Given the description of an element on the screen output the (x, y) to click on. 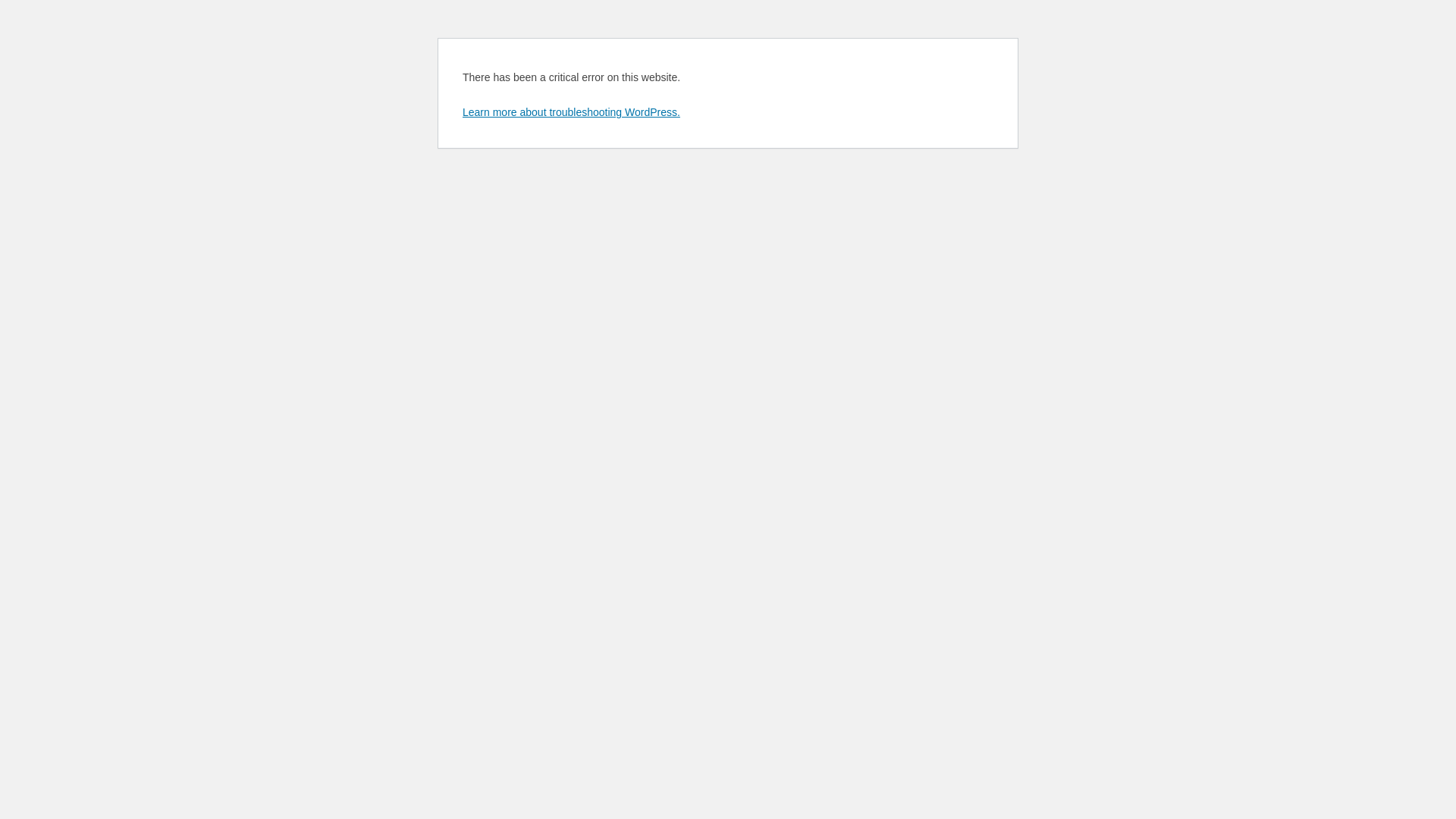
Learn more about troubleshooting WordPress. Element type: text (571, 112)
